Given the description of an element on the screen output the (x, y) to click on. 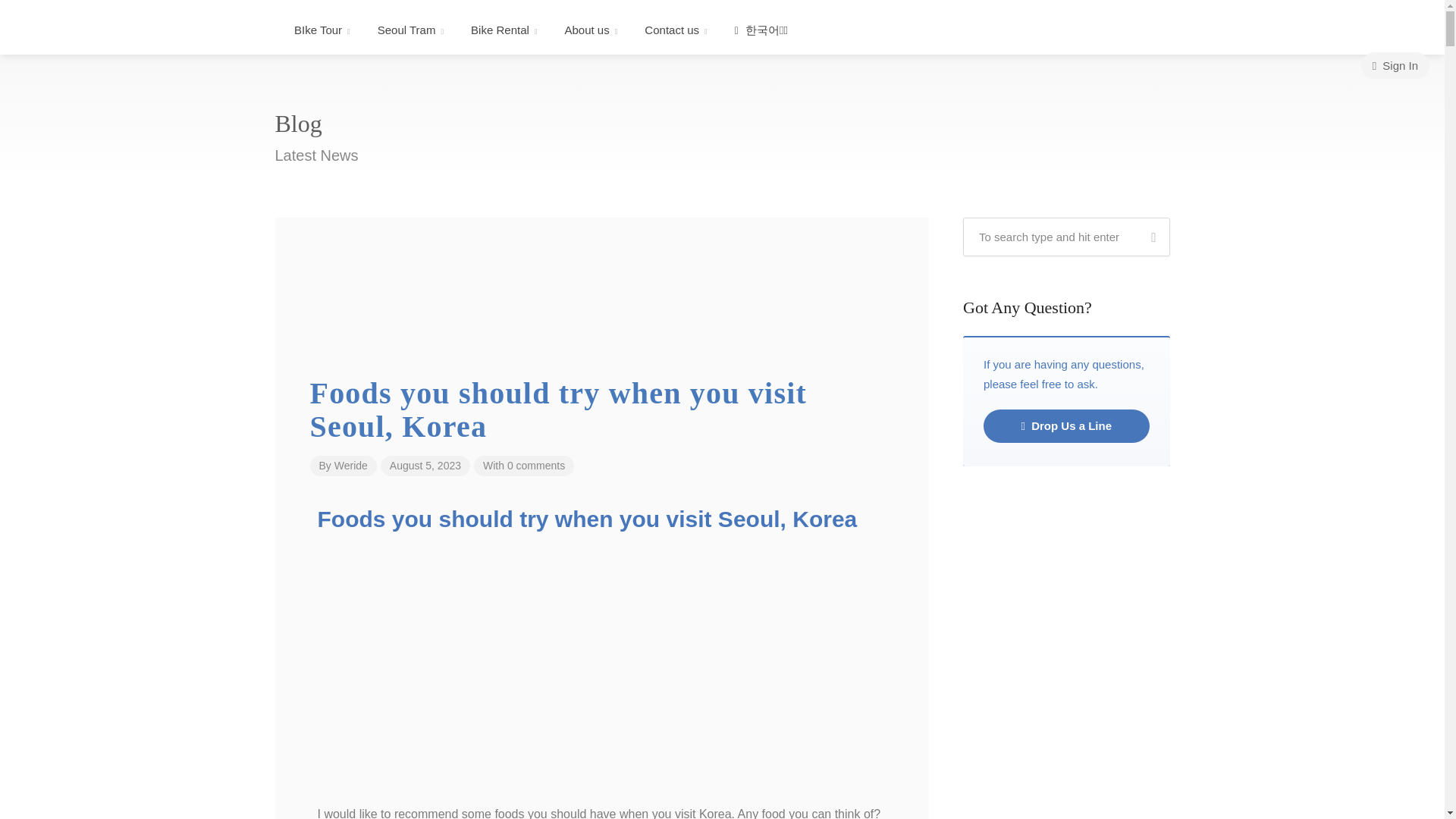
BIke Tour (321, 30)
Bike Rental (504, 30)
Seoul Tram (410, 30)
We Ride Korea Bike Tours (139, 31)
